Given the description of an element on the screen output the (x, y) to click on. 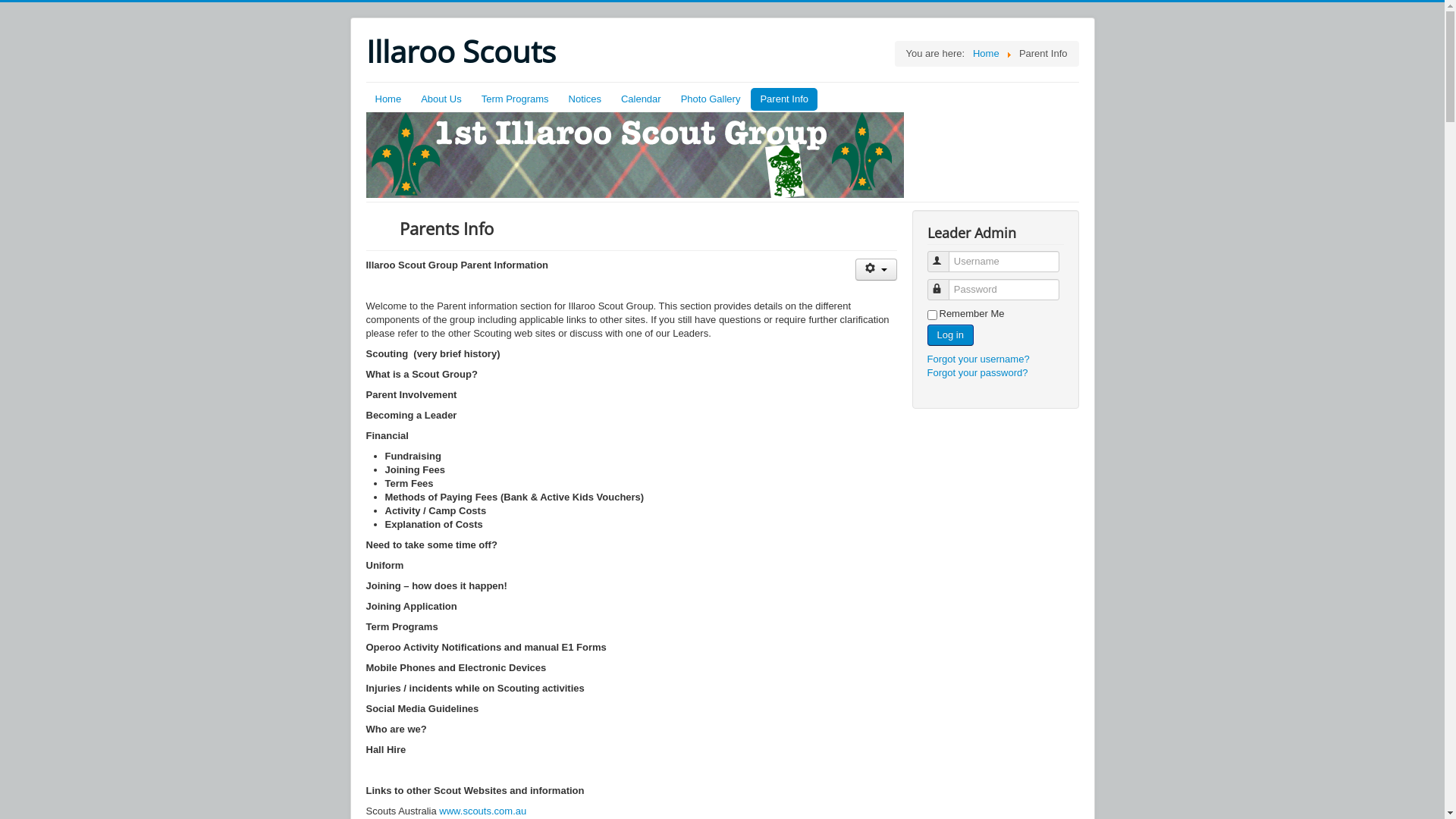
www.scouts.com.au Element type: text (482, 810)
Term Programs Element type: text (515, 98)
About Us Element type: text (440, 98)
Calendar Element type: text (640, 98)
Notices Element type: text (584, 98)
Photo Gallery Element type: text (710, 98)
Parent Info Element type: text (783, 98)
Illaroo Scouts Element type: text (460, 51)
Forgot your username? Element type: text (977, 358)
Log in Element type: text (949, 334)
Home Element type: text (985, 53)
Home Element type: text (387, 98)
Banner Element type: hover (634, 154)
Forgot your password? Element type: text (976, 372)
